Given the description of an element on the screen output the (x, y) to click on. 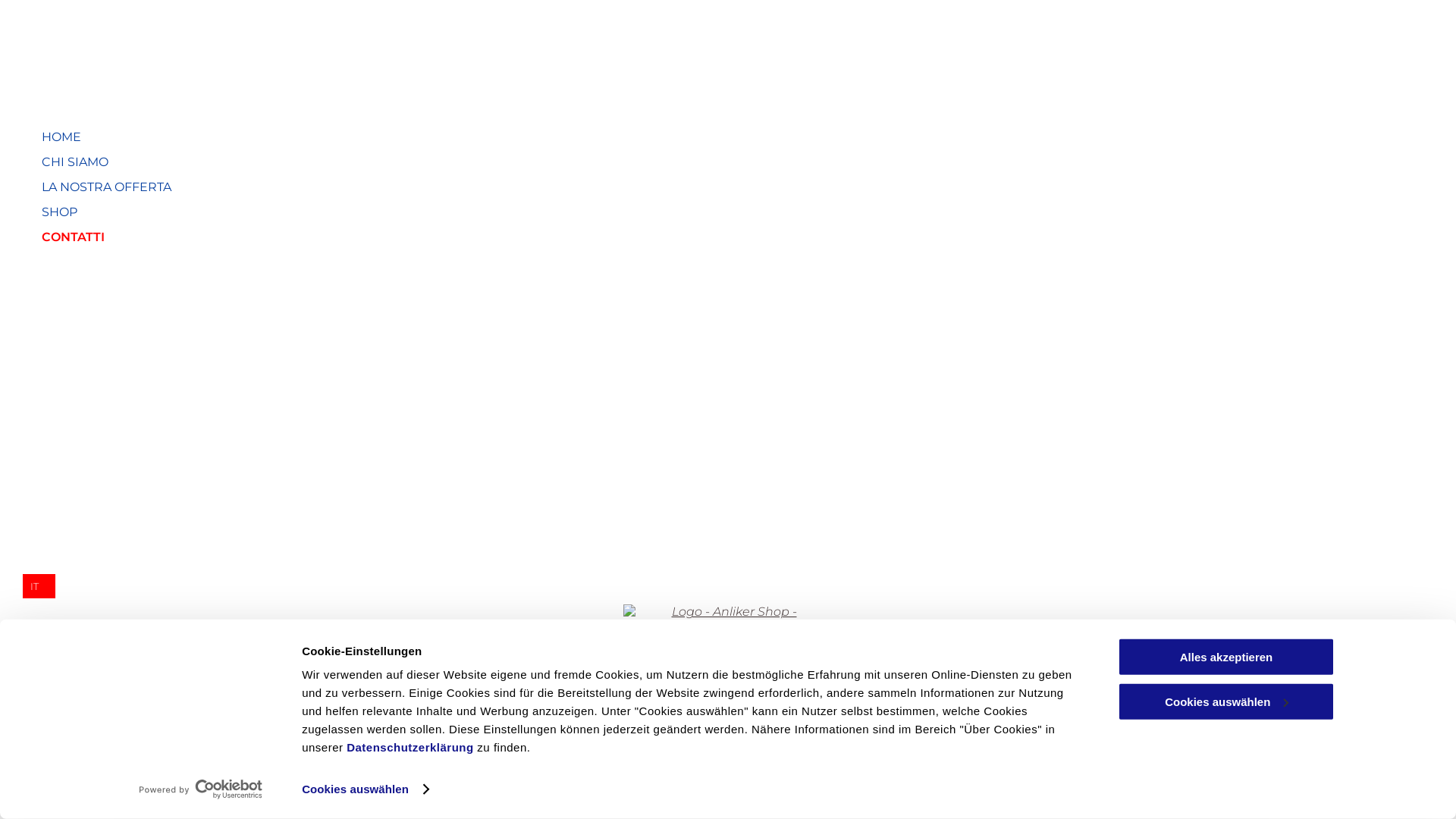
IT Element type: text (1428, 787)
LA NOSTRA OFFERTA Element type: text (398, 186)
IT Element type: text (38, 586)
Alles akzeptieren Element type: text (1225, 656)
HOME Element type: text (398, 136)
CHI SIAMO Element type: text (398, 161)
SHOP Element type: text (398, 211)
CONTATTI Element type: text (398, 236)
